Given the description of an element on the screen output the (x, y) to click on. 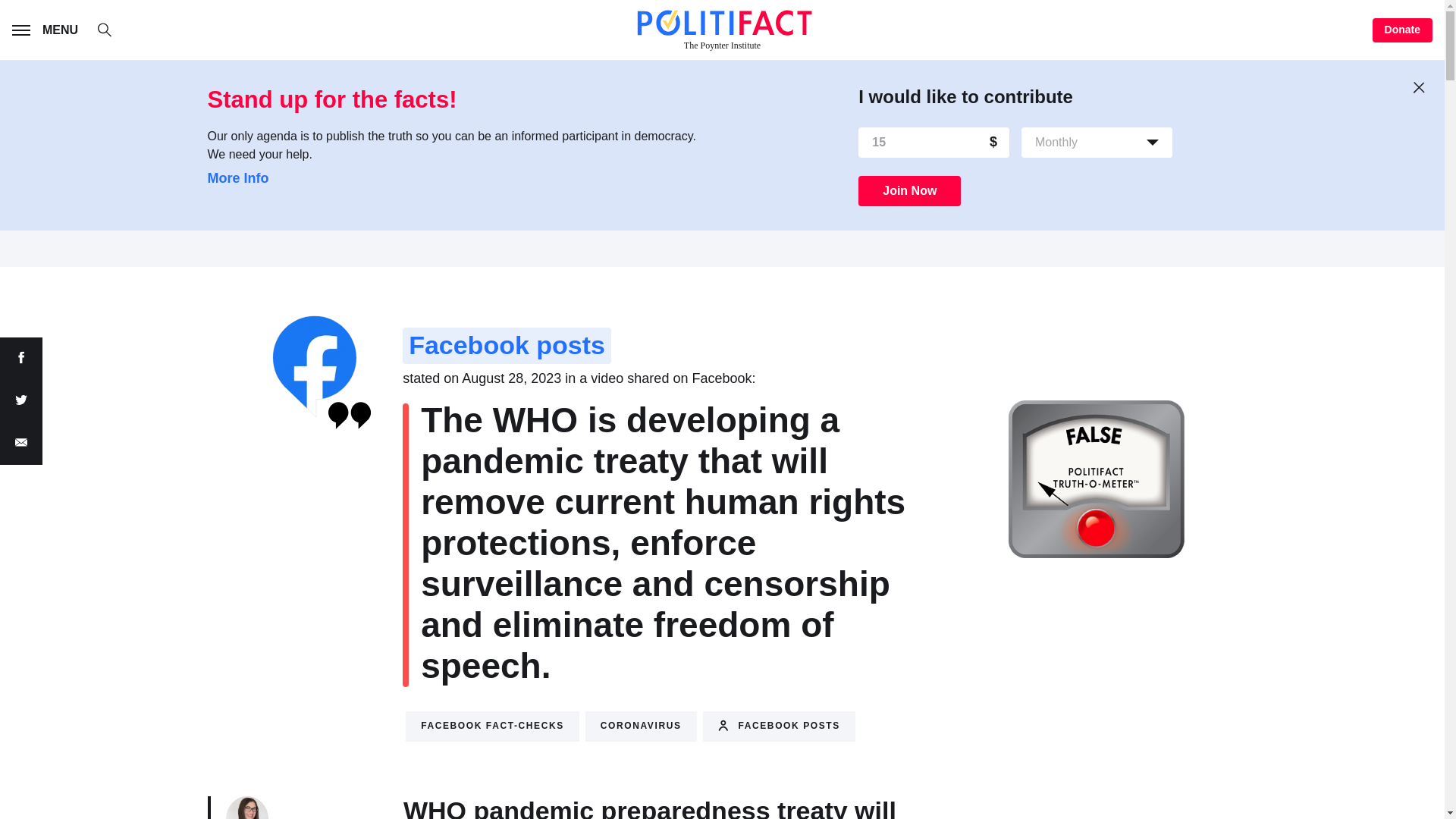
Facebook Fact-checks (492, 726)
Search (111, 31)
Facebook posts (779, 726)
MENU (47, 30)
Facebook posts (507, 345)
Coronavirus (641, 726)
Donate (1402, 30)
The Poynter Institute (721, 29)
